Given the description of an element on the screen output the (x, y) to click on. 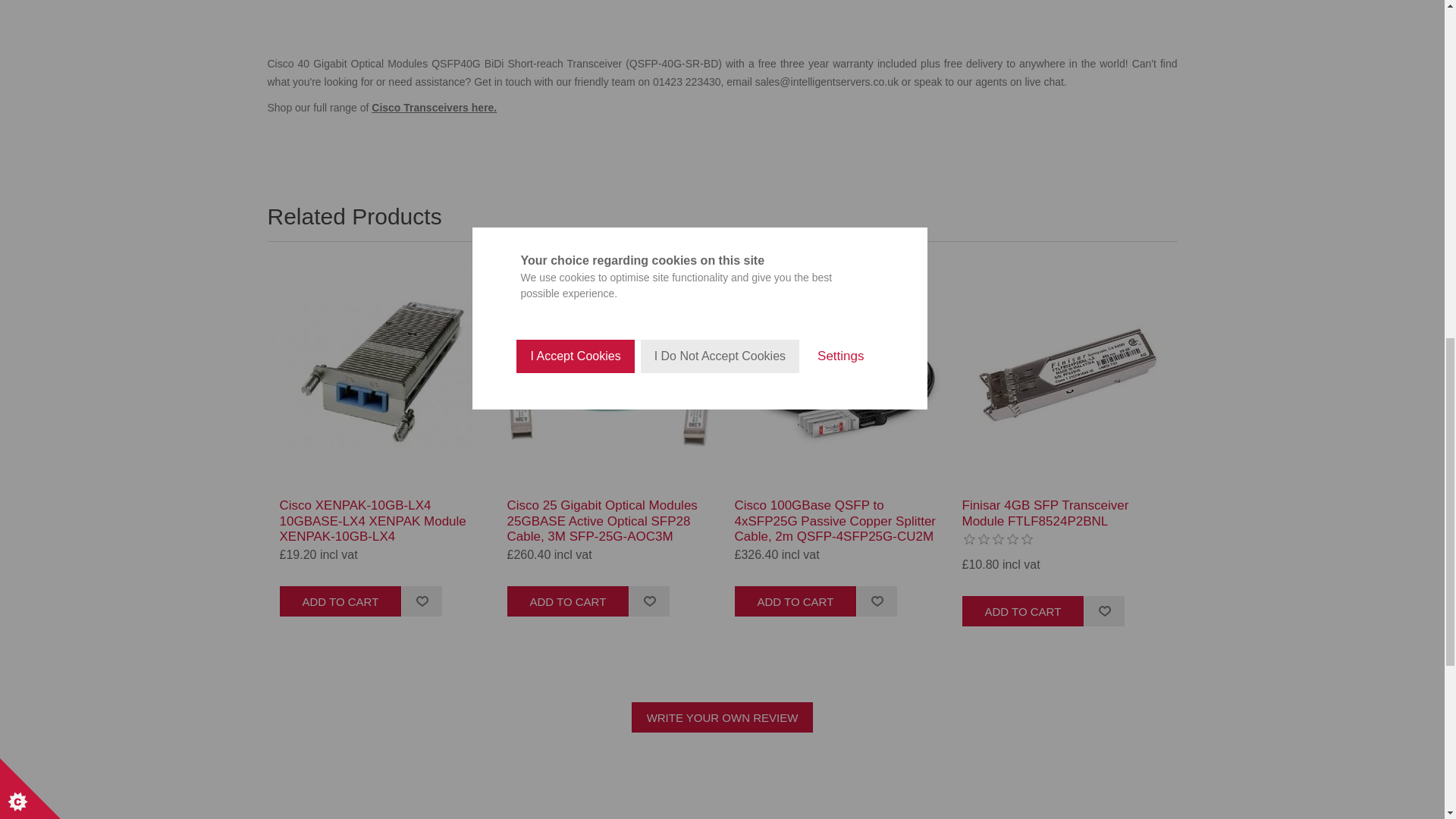
Add to wishlist (421, 601)
Add to wishlist (421, 601)
Add to cart (567, 601)
Add to wishlist (876, 601)
Add to wishlist (1103, 611)
Add to cart (794, 601)
Add to cart (340, 601)
Add to wishlist (648, 601)
Add to wishlist (648, 601)
Add to wishlist (876, 601)
Add to wishlist (1103, 611)
